Given the description of an element on the screen output the (x, y) to click on. 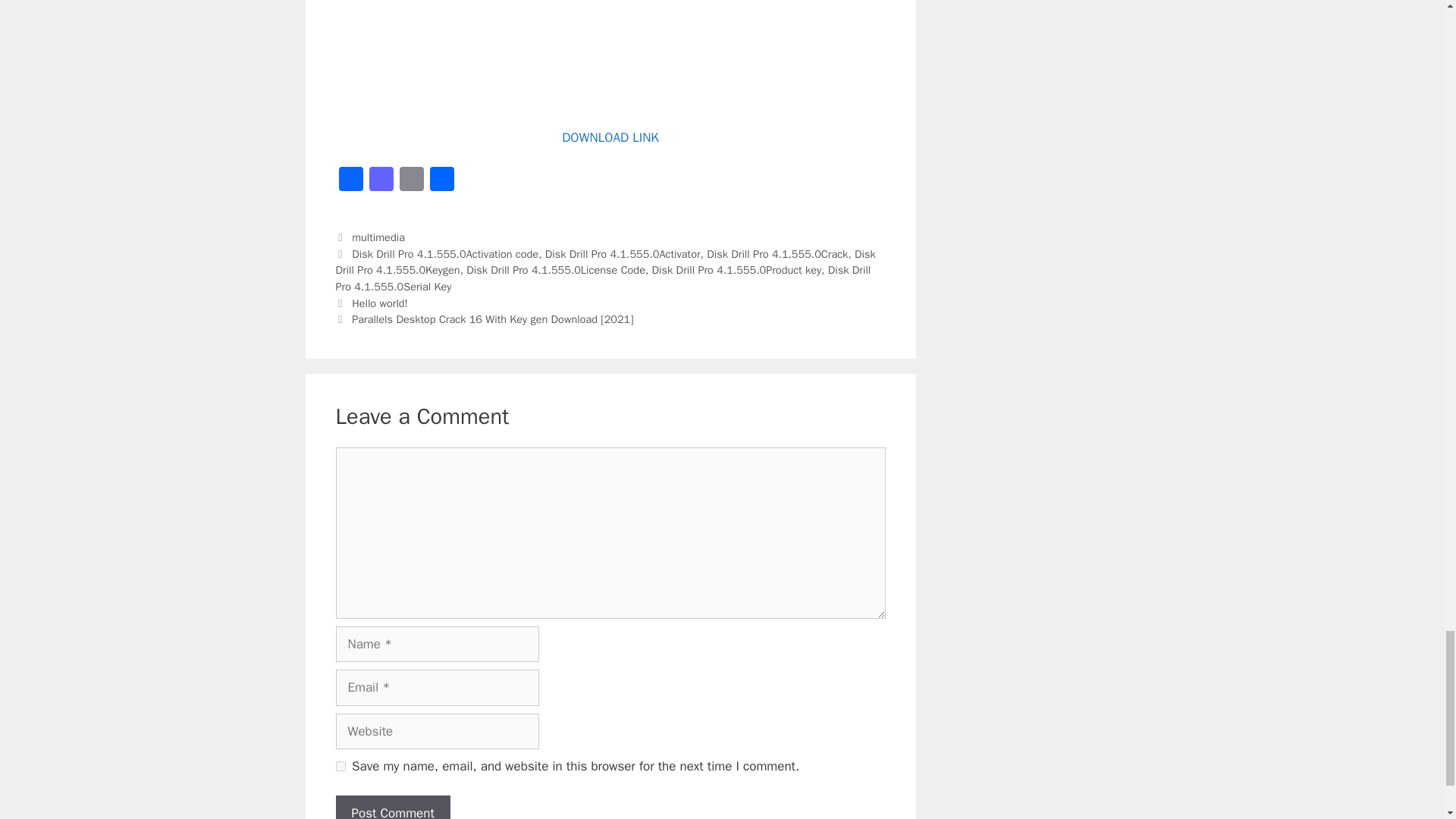
Facebook (349, 181)
DOWNLOAD LINK (610, 137)
Mastodon (380, 181)
Email (411, 181)
Disk Drill Pro 4.1.555.0Activation code (445, 254)
yes (339, 766)
Disk Drill Pro 4.1.555.0Activator (622, 254)
Email (411, 181)
Disk Drill Pro 4.1.555.0Serial Key (602, 277)
Disk Drill Pro 4.1.555.0Keygen (604, 262)
Disk Drill Pro 4.1.555.0License Code (555, 269)
Facebook (349, 181)
Hello world! (379, 303)
multimedia (378, 237)
Share (441, 181)
